Given the description of an element on the screen output the (x, y) to click on. 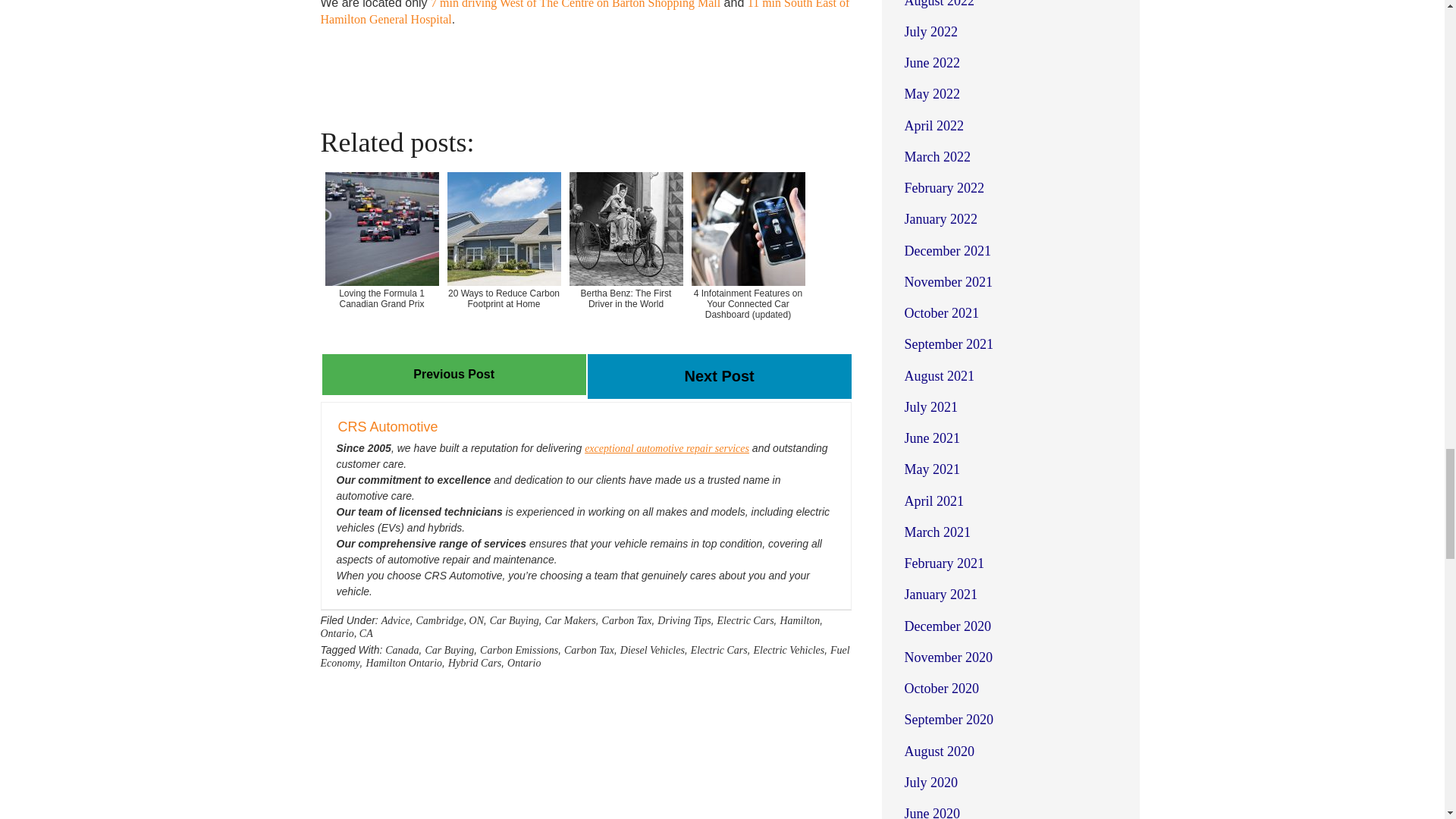
Car Makers (569, 620)
7 min driving West of The Centre on Barton Shopping Mall (575, 4)
Car Buying (513, 620)
CRS Automotive (387, 426)
Next Post (718, 375)
exceptional automotive repair services (667, 448)
11 min South East of Hamilton General Hospital (584, 12)
Advice (395, 620)
Previous Post (453, 373)
How Often Do You Change Your Car Air Filter? (718, 377)
